Given the description of an element on the screen output the (x, y) to click on. 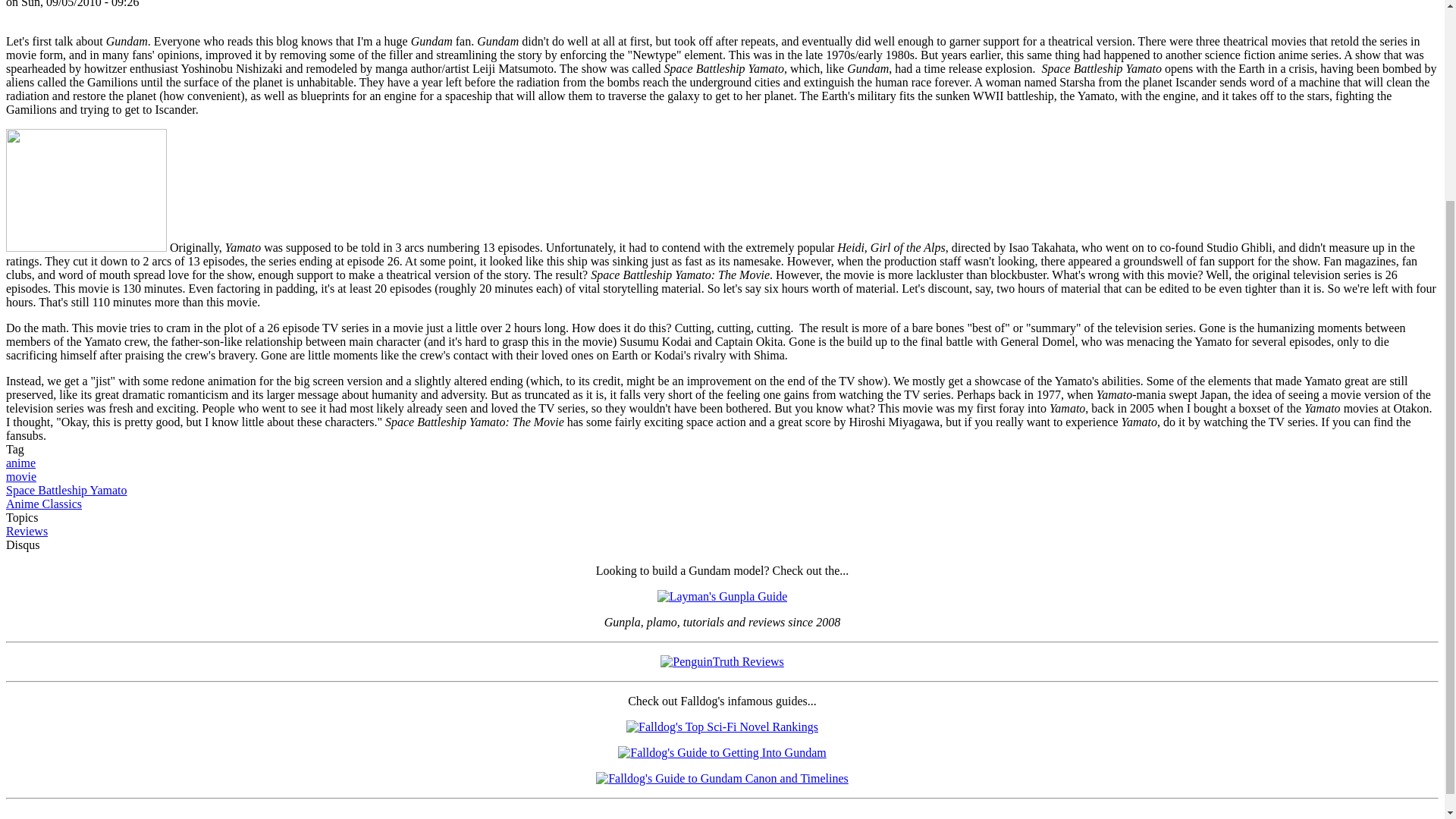
Anime Classics (43, 503)
movie (20, 476)
Reviews (26, 530)
anime (19, 462)
Space Battleship Yamato (66, 490)
